Given the description of an element on the screen output the (x, y) to click on. 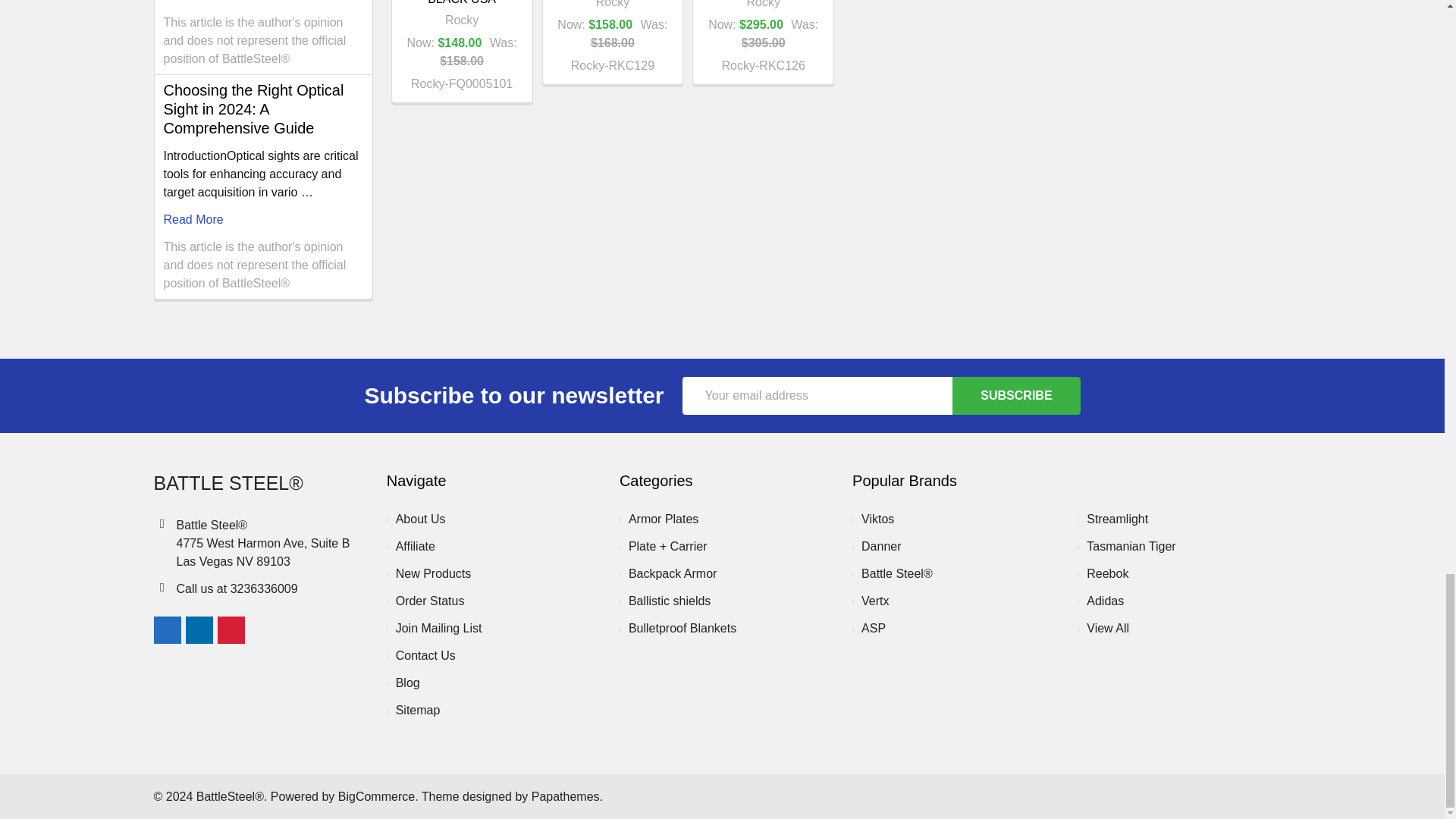
Subscribe (1016, 395)
